Given the description of an element on the screen output the (x, y) to click on. 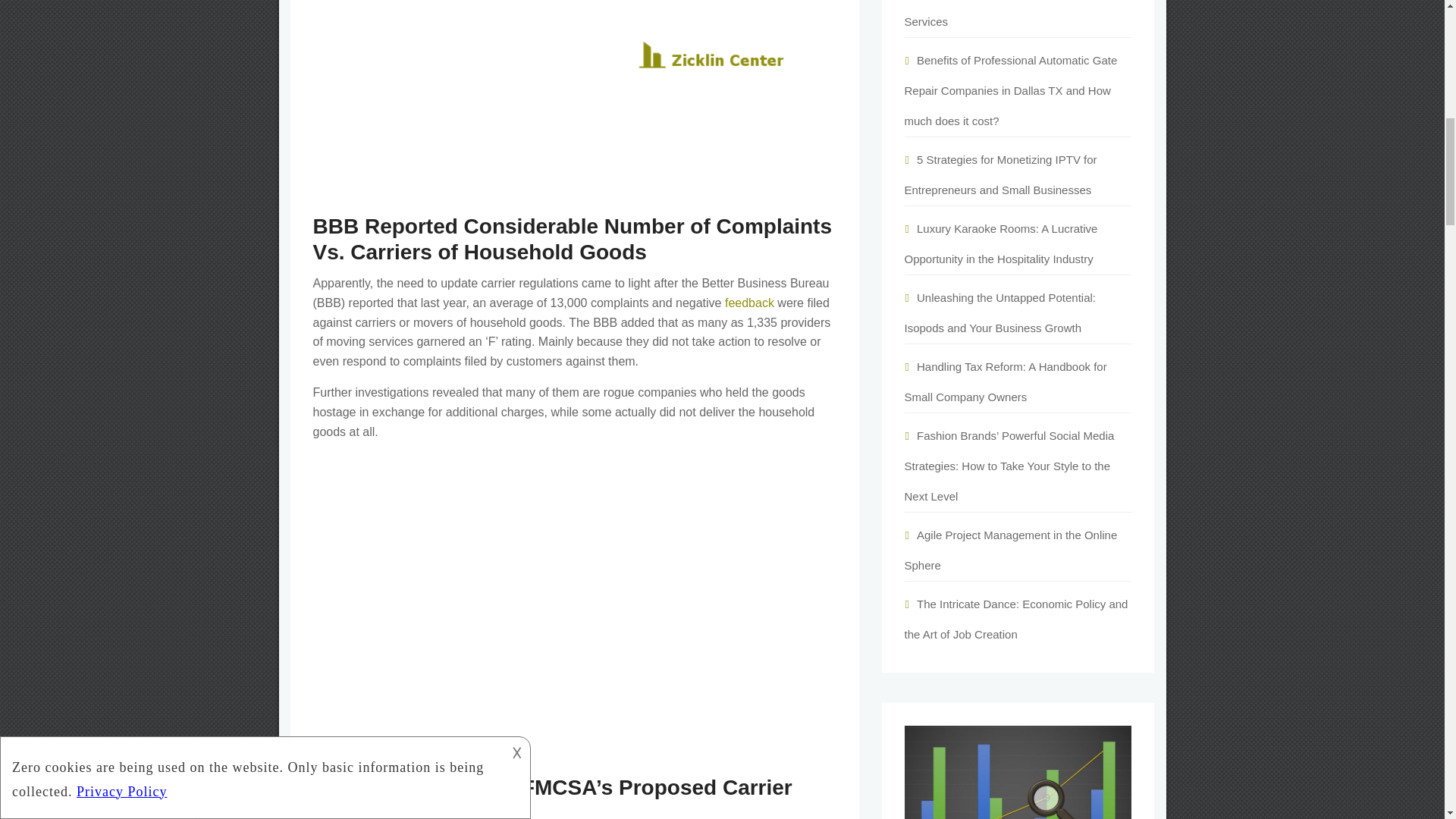
Fleet Management Software and Fleet Management Systems (574, 98)
